Given the description of an element on the screen output the (x, y) to click on. 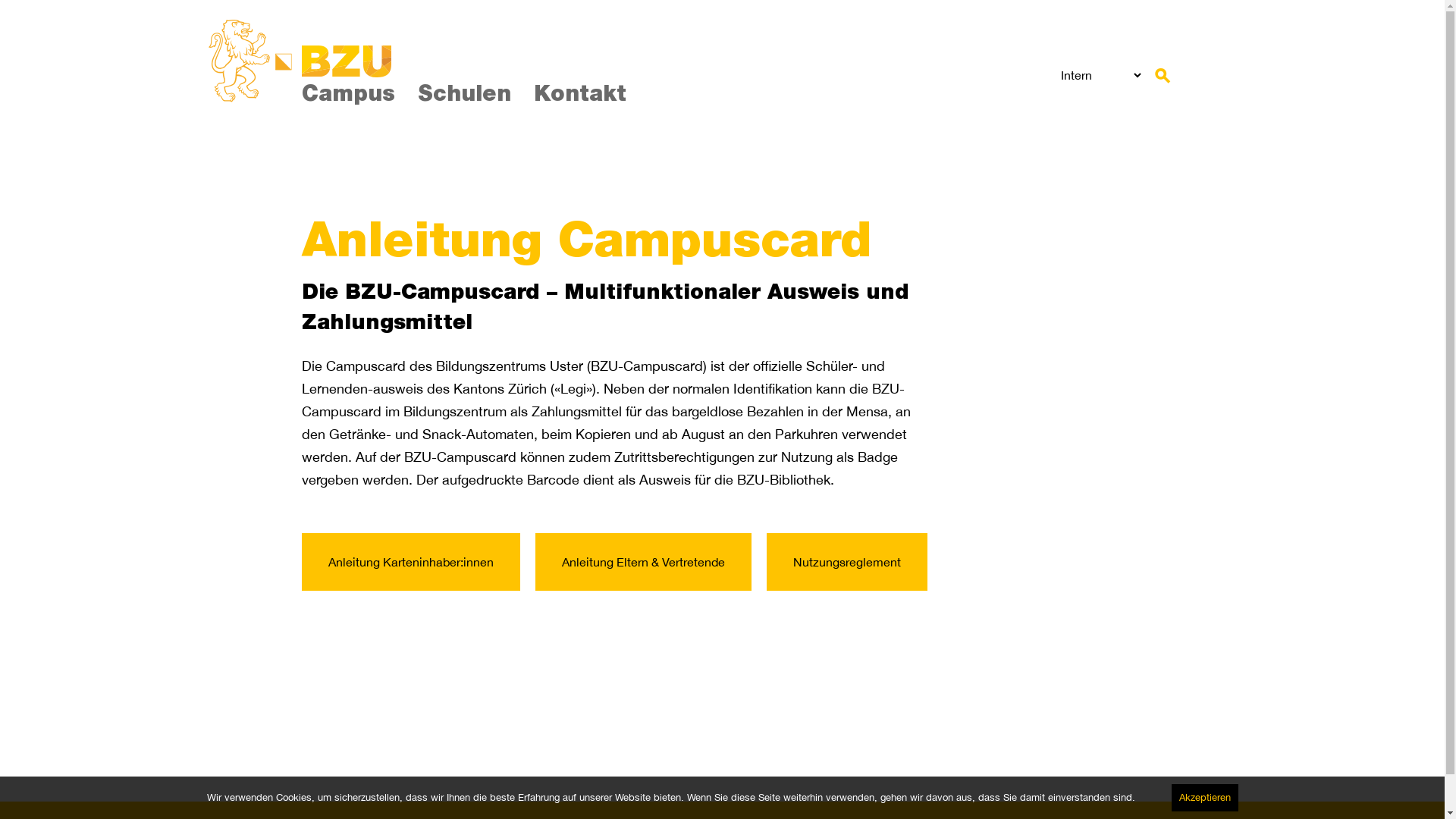
Anleitung Eltern & Vertretende Element type: text (643, 561)
Campus Element type: text (348, 95)
Bildungszentrum Uster Element type: hover (249, 60)
Schulen Element type: text (463, 95)
Kontakt Element type: text (579, 95)
Anleitung Karteninhaber:innen Element type: text (410, 561)
Akzeptieren Element type: text (1203, 797)
Nutzungsreglement Element type: text (845, 561)
Bildungszentrum Uster Element type: hover (346, 61)
